Given the description of an element on the screen output the (x, y) to click on. 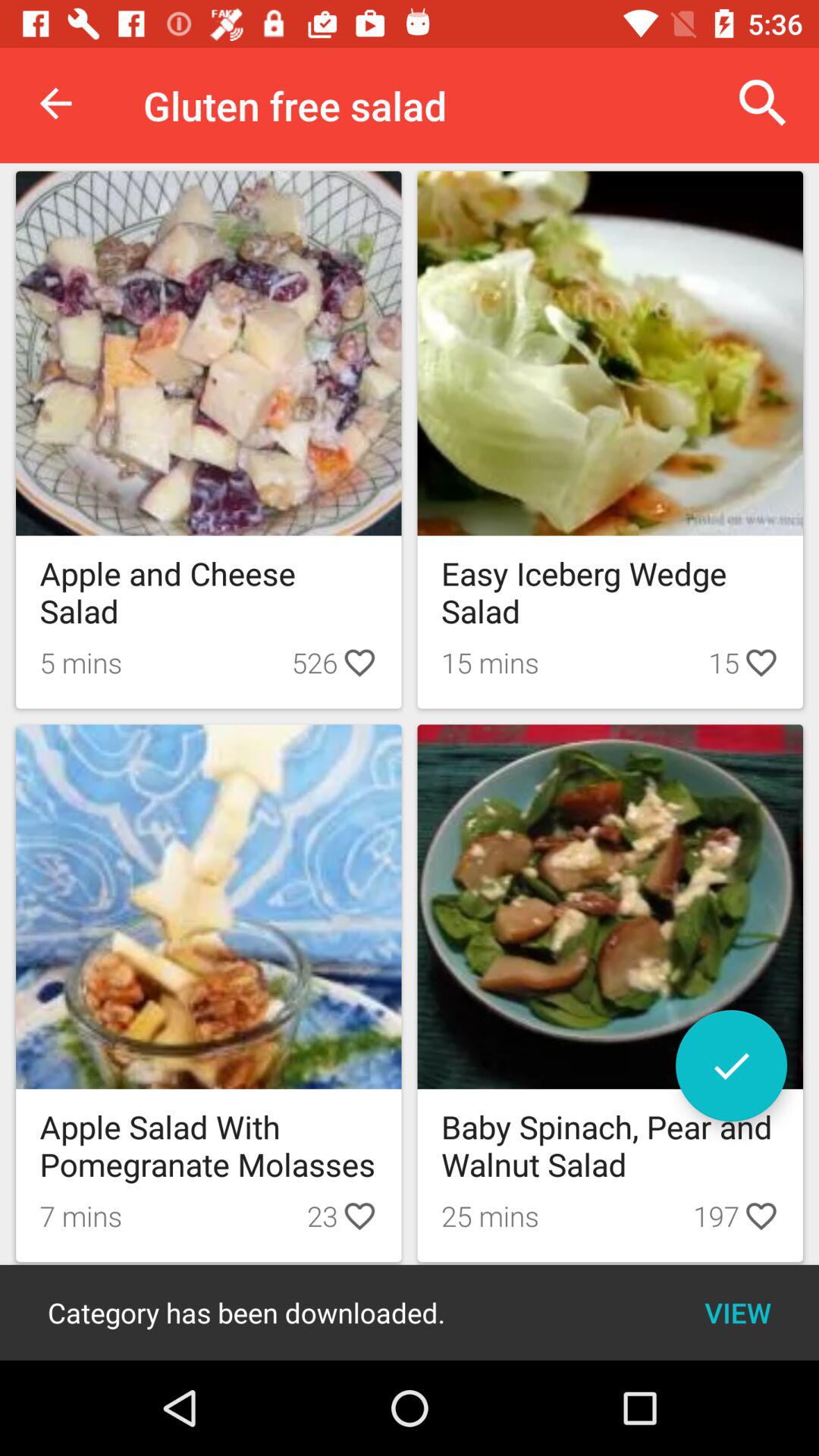
click icon to the left of the gluten free salad icon (55, 103)
